Given the description of an element on the screen output the (x, y) to click on. 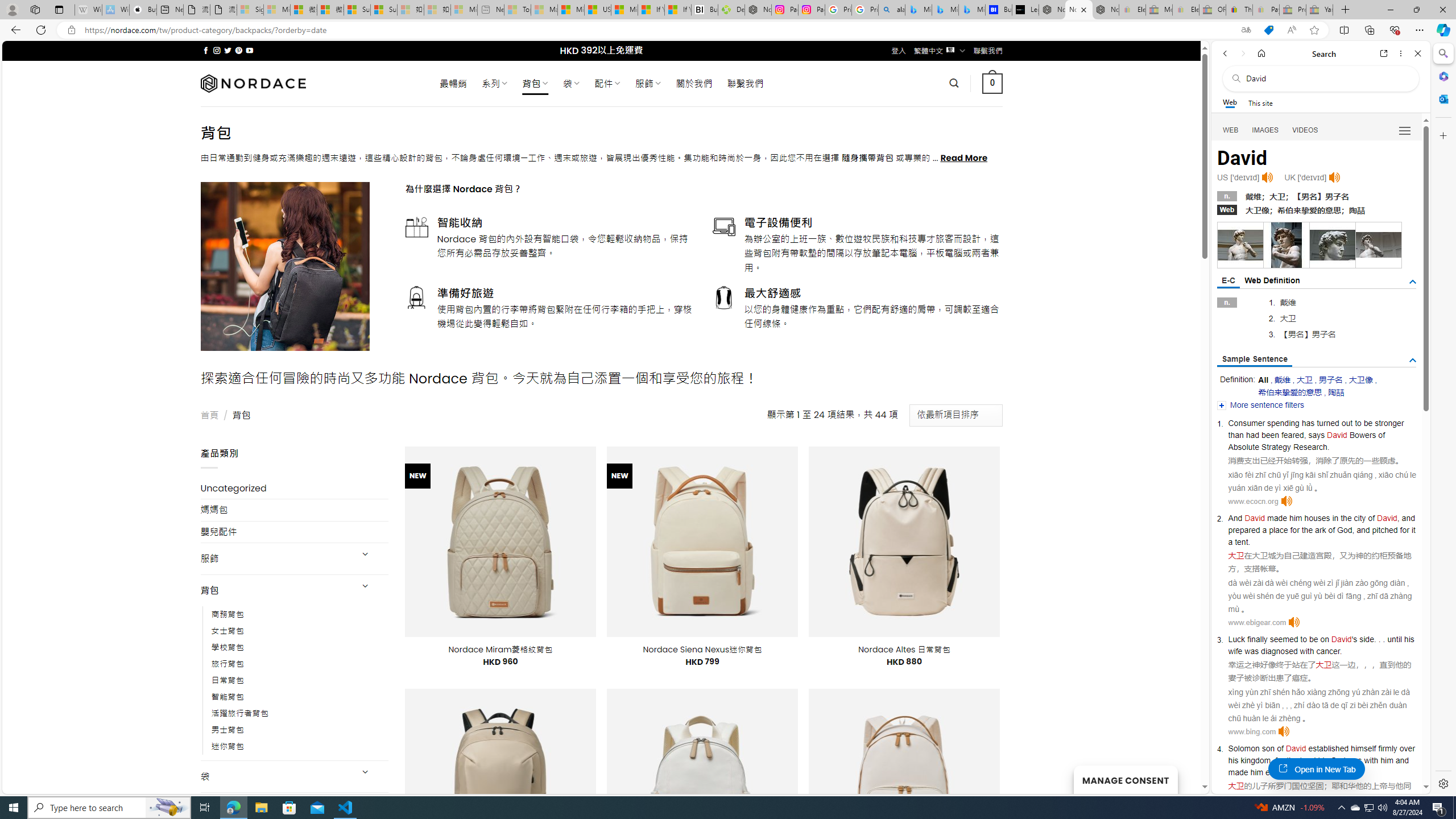
and (1401, 759)
MANAGE CONSENT (1125, 779)
God (1337, 759)
Follow on YouTube (249, 50)
Follow on Instagram (216, 50)
him (1256, 772)
